Given the description of an element on the screen output the (x, y) to click on. 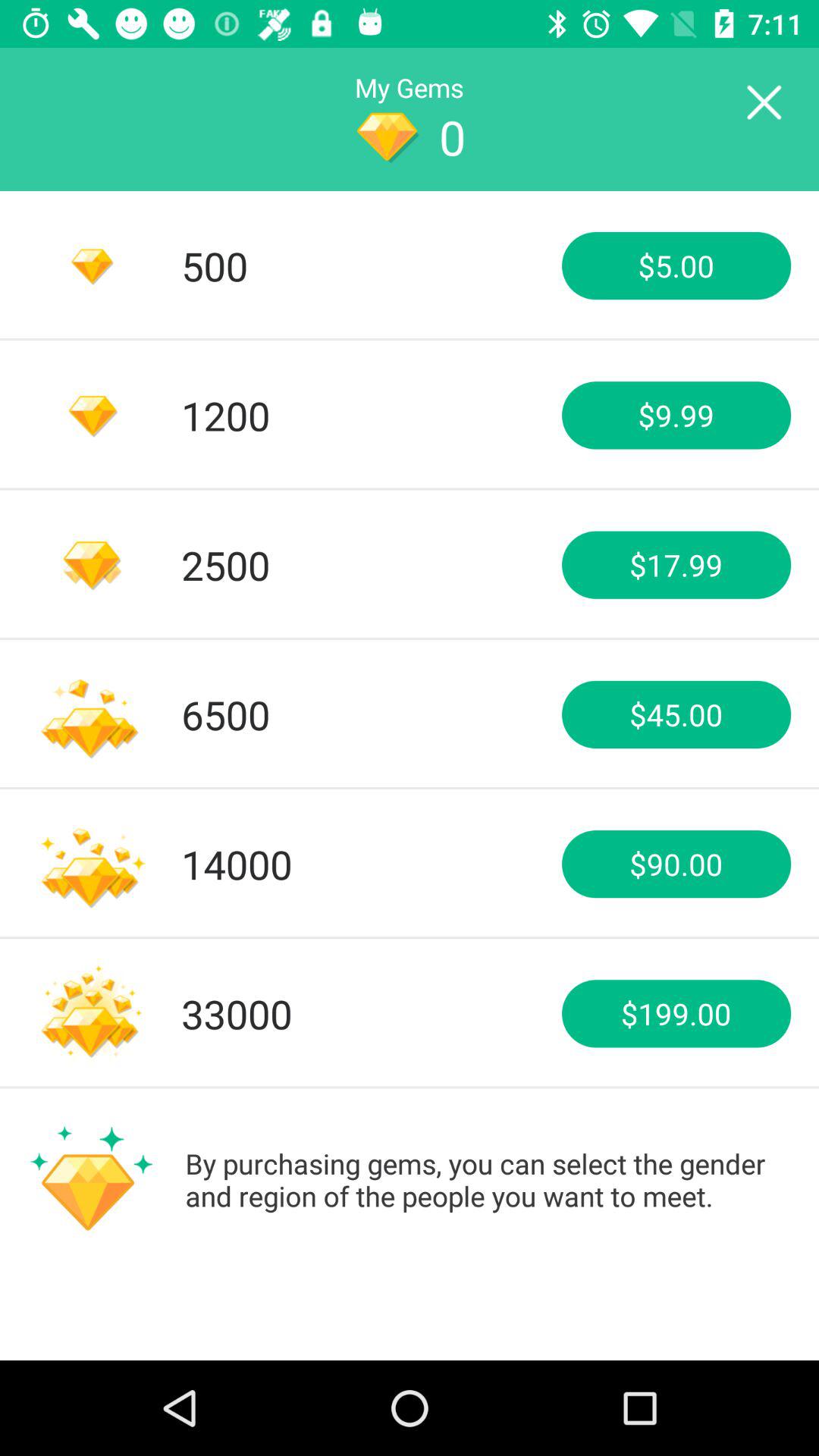
close window (763, 103)
